Given the description of an element on the screen output the (x, y) to click on. 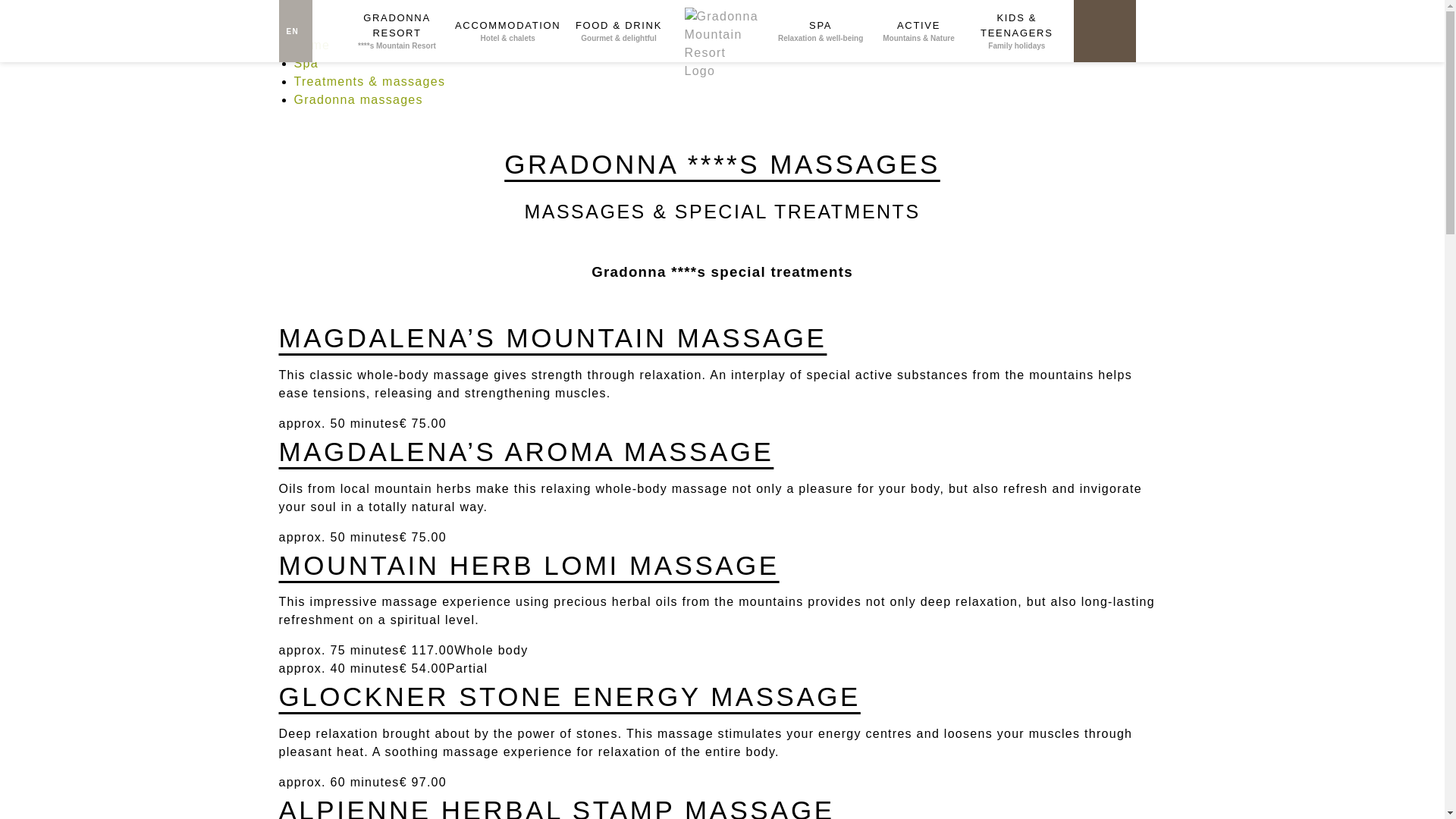
SPA (820, 31)
ACCOMMODATION (507, 31)
Accommodation (507, 31)
Gradonna Resort (396, 31)
ACTIVE (918, 31)
GRADONNA RESORT (396, 31)
